Given the description of an element on the screen output the (x, y) to click on. 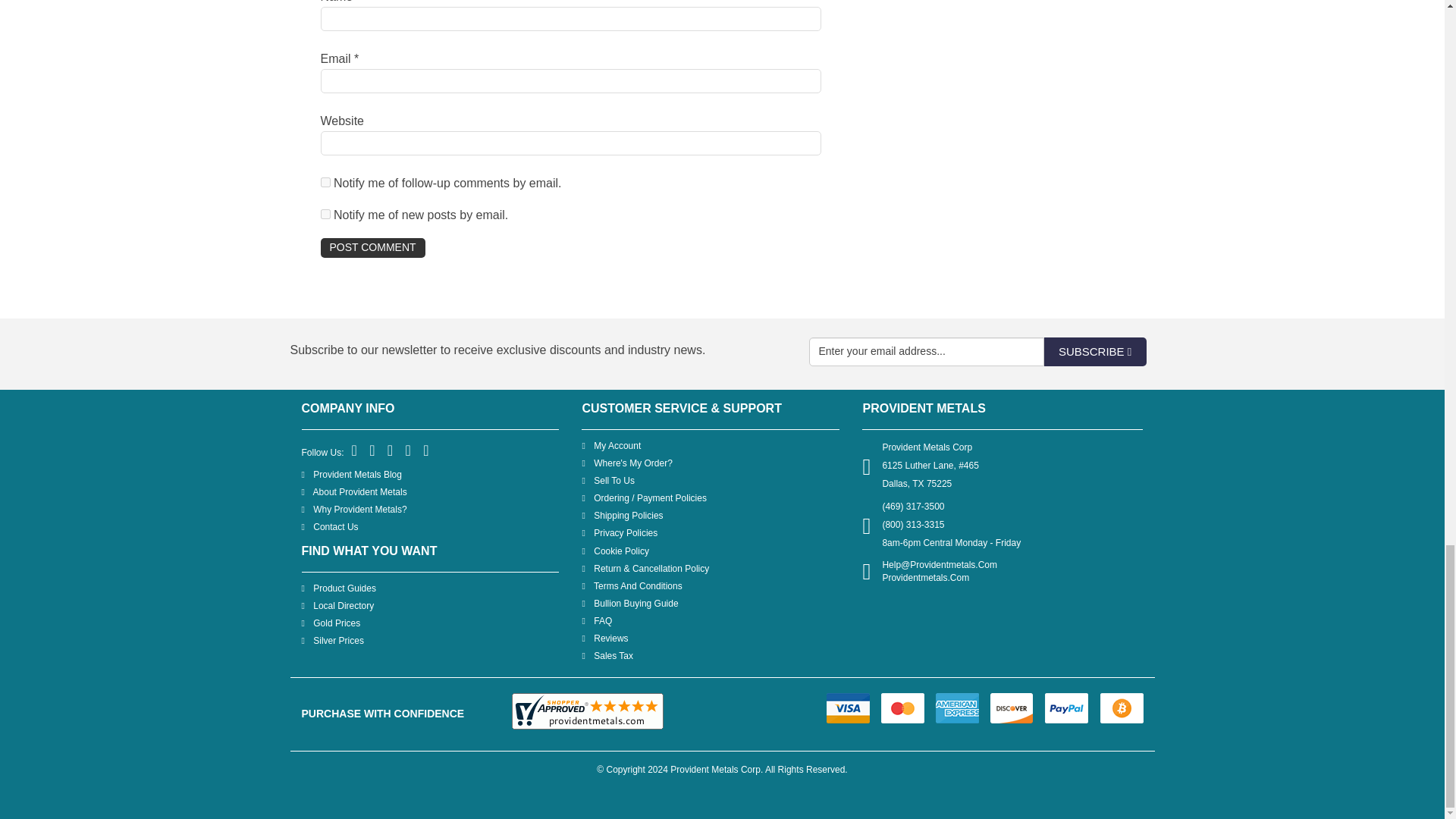
Pinterest (391, 450)
Facebook (354, 450)
subscribe (325, 214)
Instagram (426, 450)
Post Comment (372, 247)
Post Comment (372, 247)
Twitter (372, 450)
subscribe (325, 182)
You Tube (408, 450)
